Given the description of an element on the screen output the (x, y) to click on. 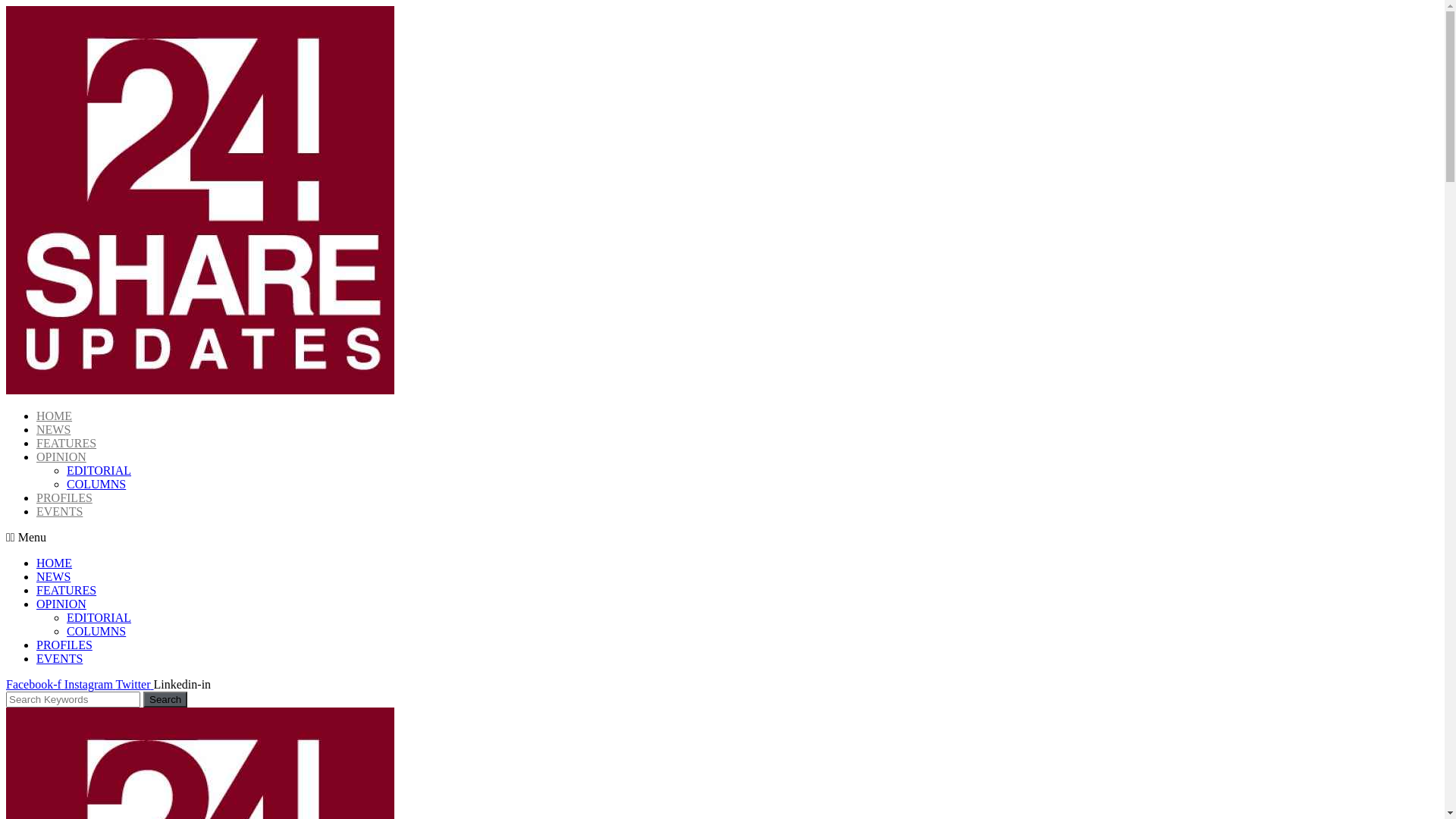
OPINION Element type: text (61, 456)
Search Element type: hover (73, 699)
FEATURES Element type: text (66, 442)
Facebook-f Element type: text (35, 683)
NEWS Element type: text (53, 576)
EVENTS Element type: text (59, 658)
EDITORIAL Element type: text (98, 470)
EVENTS Element type: text (59, 511)
HOME Element type: text (54, 415)
PROFILES Element type: text (64, 644)
Search Element type: text (165, 699)
COLUMNS Element type: text (95, 630)
PROFILES Element type: text (64, 497)
NEWS Element type: text (53, 429)
Twitter Element type: text (134, 683)
COLUMNS Element type: text (95, 483)
Linkedin-in Element type: text (182, 683)
Instagram Element type: text (90, 683)
HOME Element type: text (54, 562)
EDITORIAL Element type: text (98, 617)
cropped-24SN_LOGO.jpg Element type: hover (200, 200)
OPINION Element type: text (61, 603)
FEATURES Element type: text (66, 589)
